Given the description of an element on the screen output the (x, y) to click on. 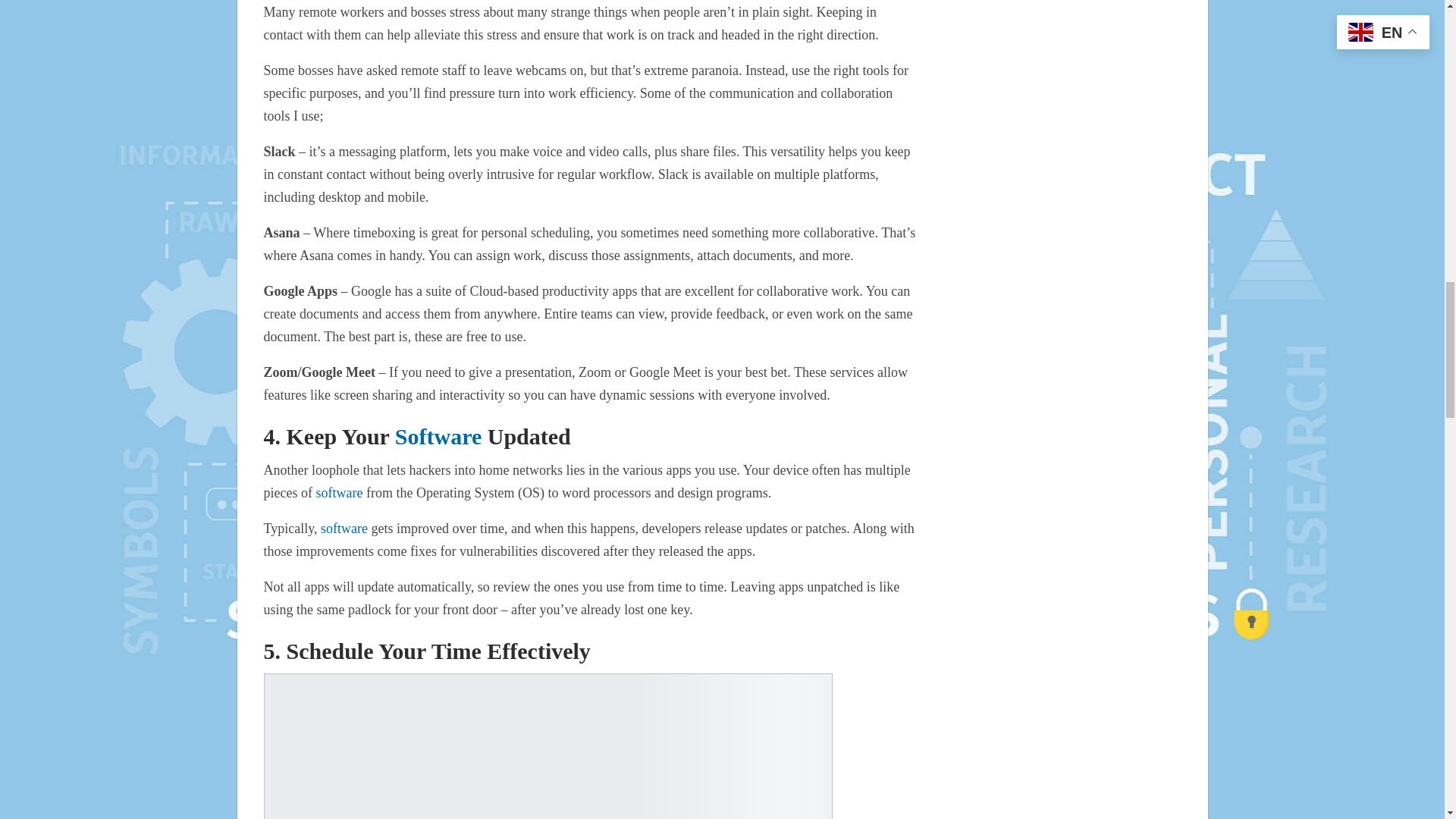
software (338, 492)
Software (437, 436)
software (344, 528)
